Given the description of an element on the screen output the (x, y) to click on. 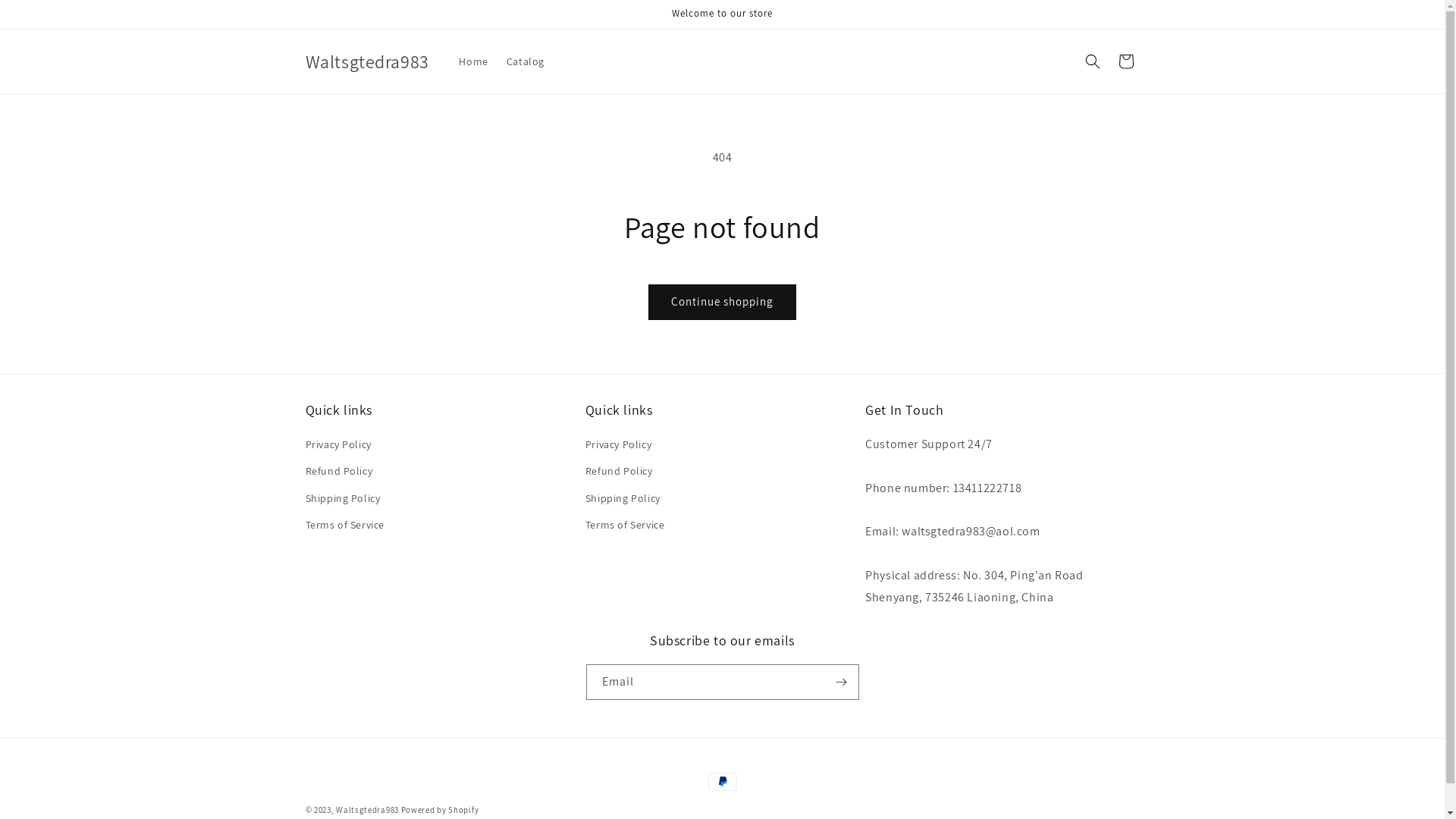
Refund Policy Element type: text (338, 471)
Waltsgtedra983 Element type: text (366, 61)
Cart Element type: text (1125, 61)
Privacy Policy Element type: text (618, 446)
Continue shopping Element type: text (722, 302)
Terms of Service Element type: text (625, 524)
Privacy Policy Element type: text (337, 446)
Waltsgtedra983 Element type: text (366, 809)
Catalog Element type: text (525, 61)
Home Element type: text (472, 61)
Powered by Shopify Element type: text (440, 809)
Shipping Policy Element type: text (622, 498)
Shipping Policy Element type: text (341, 498)
Refund Policy Element type: text (618, 471)
Terms of Service Element type: text (344, 524)
